Given the description of an element on the screen output the (x, y) to click on. 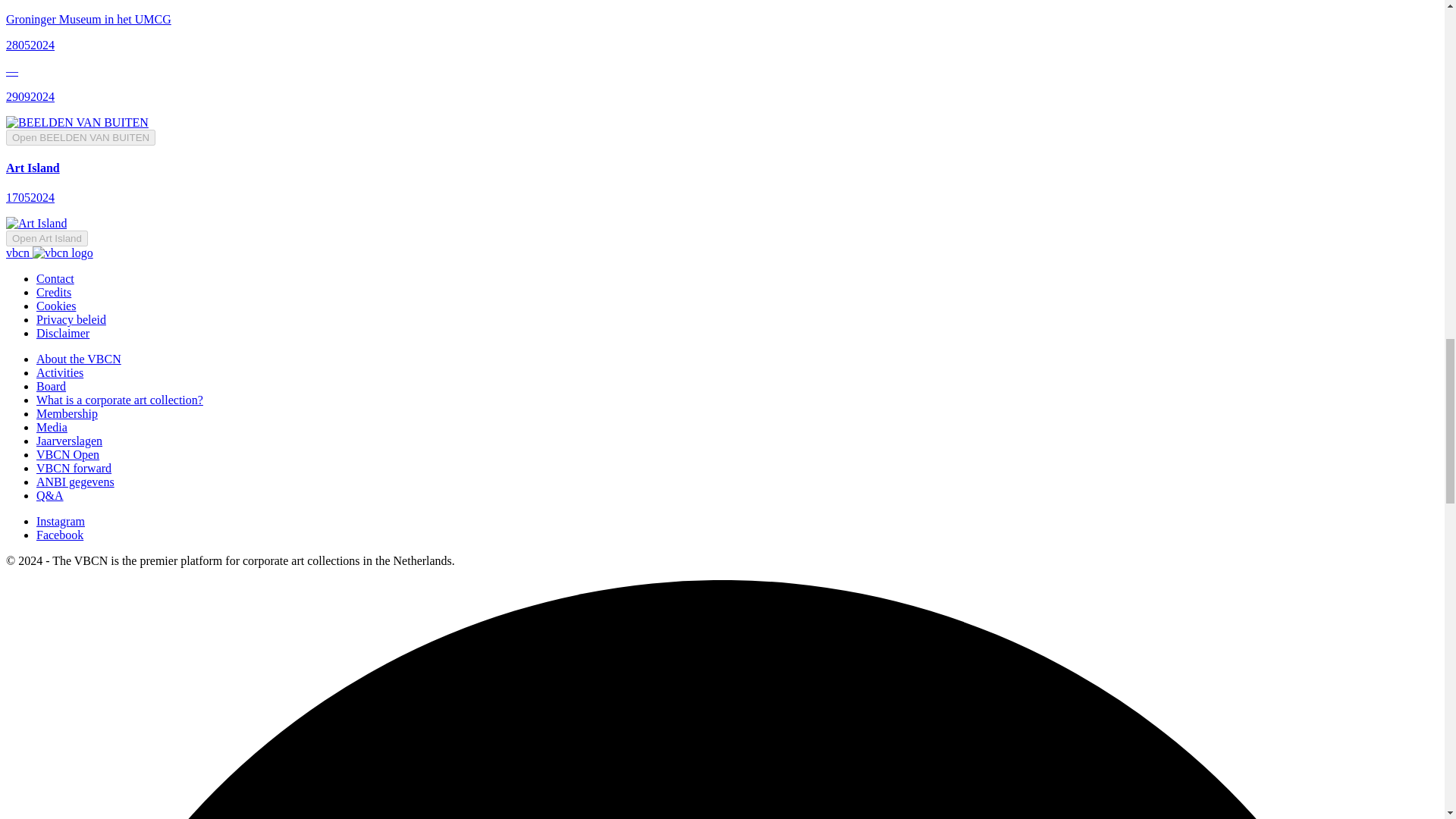
Open BEELDEN VAN BUITEN (80, 137)
